Given the description of an element on the screen output the (x, y) to click on. 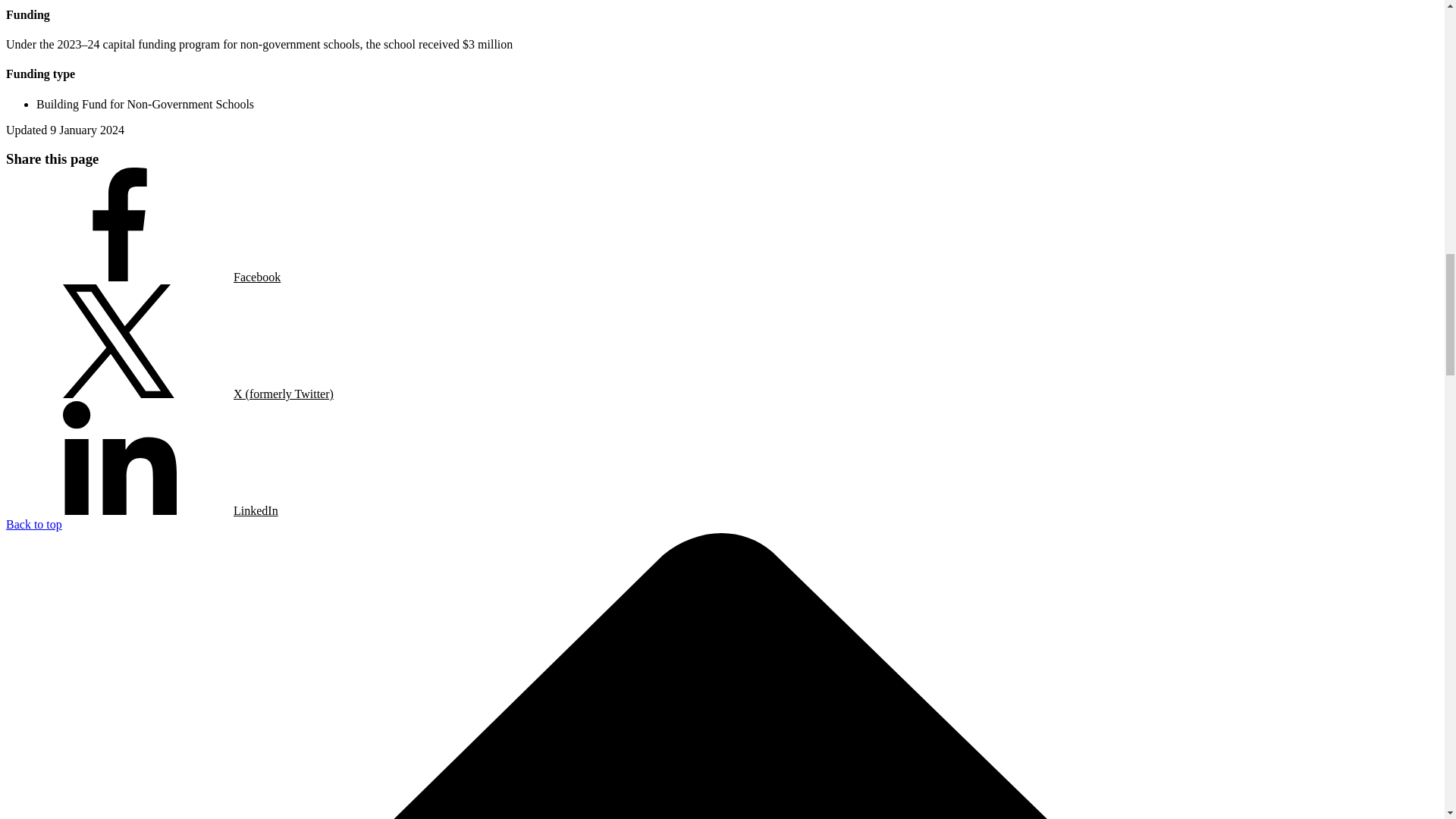
Facebook (143, 225)
LinkedIn (141, 459)
